Given the description of an element on the screen output the (x, y) to click on. 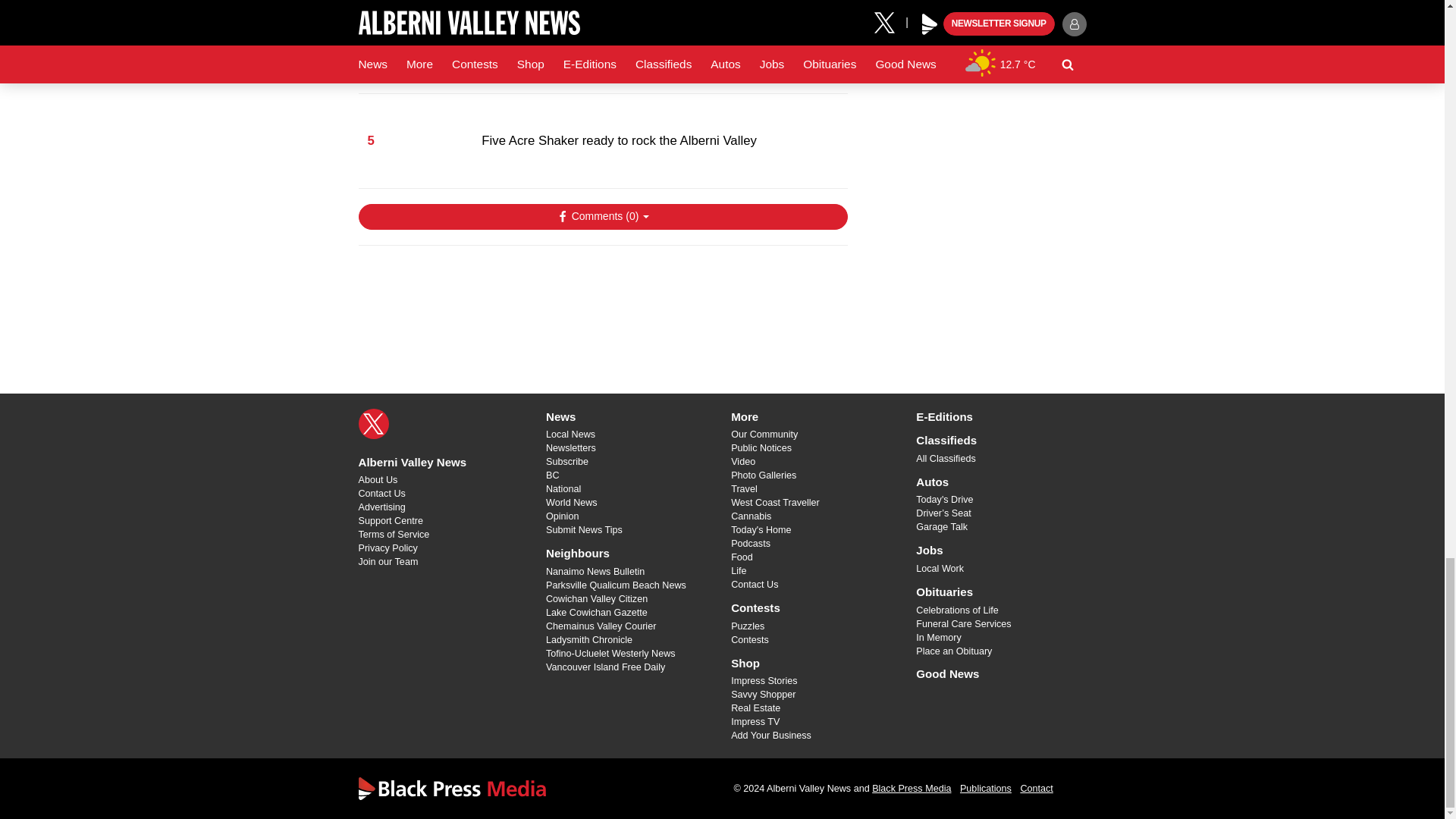
Show Comments (602, 216)
X (373, 423)
